Given the description of an element on the screen output the (x, y) to click on. 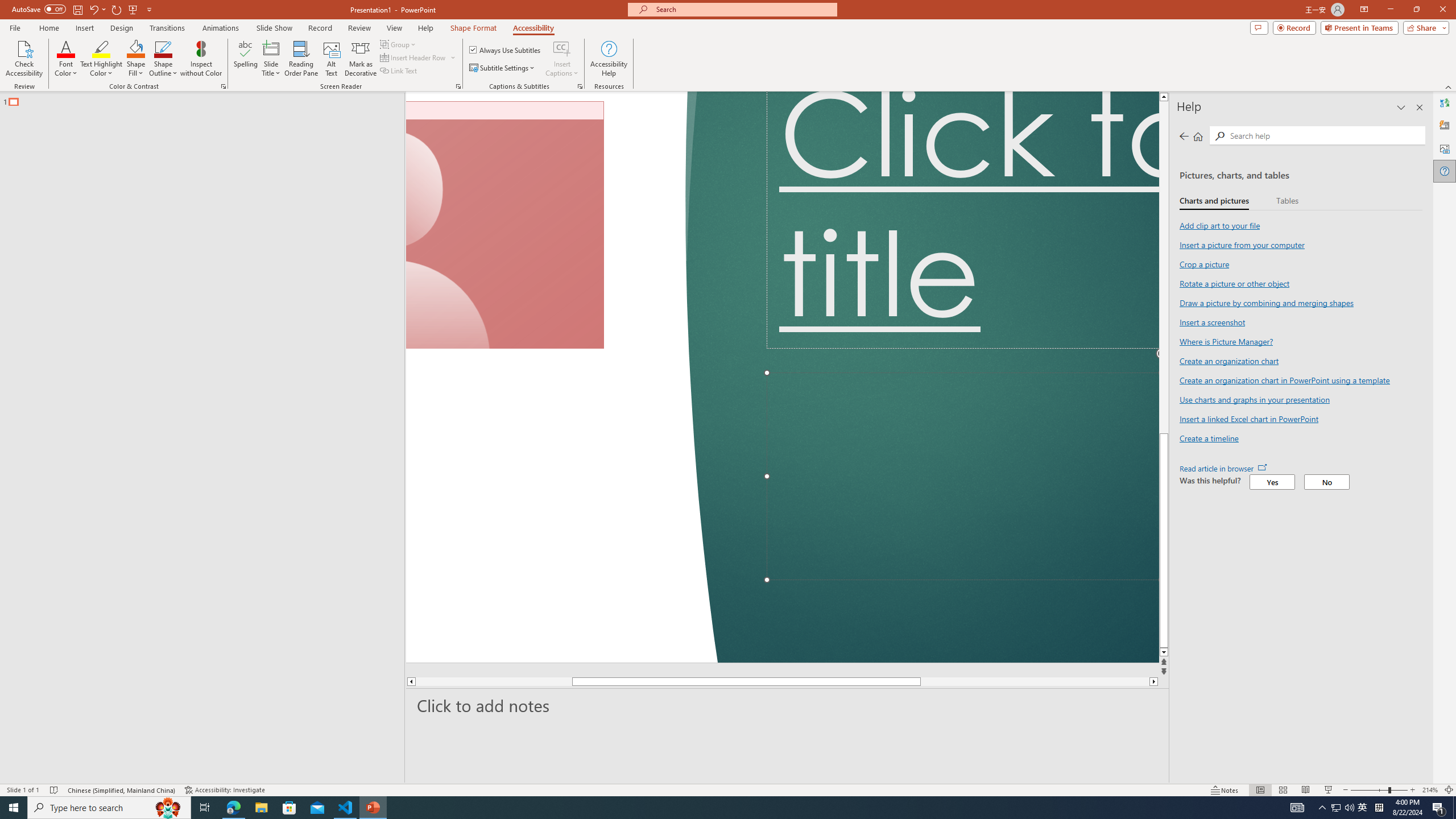
Group (398, 44)
Mark as Decorative (360, 58)
Insert Header Row (418, 56)
Yes (1271, 481)
Rotate a picture or other object (1234, 283)
Insert Captions (561, 58)
Always Use Subtitles (505, 49)
